Given the description of an element on the screen output the (x, y) to click on. 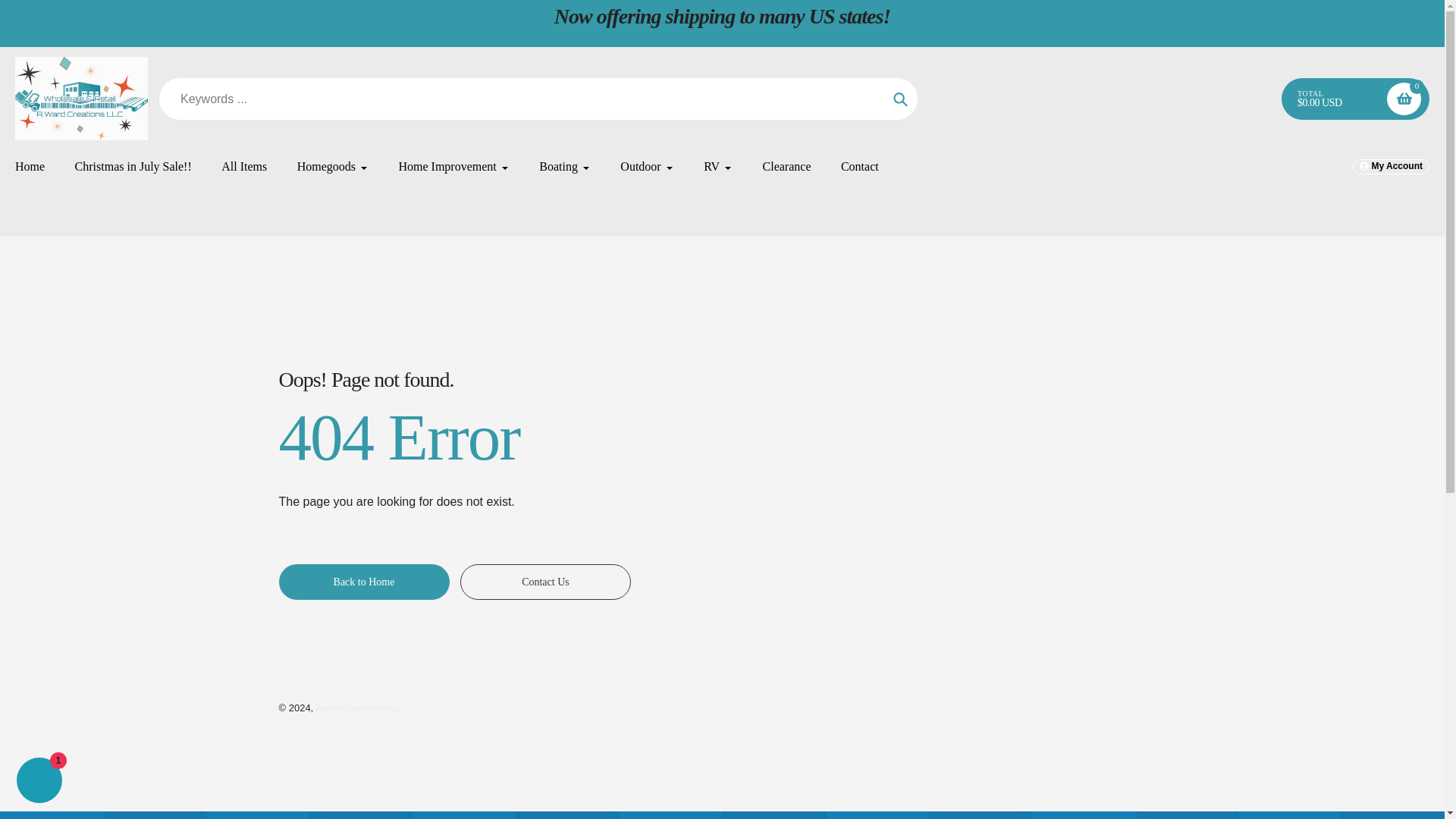
Home Improvement (452, 167)
Home (29, 167)
Homegoods (332, 167)
Christmas in July Sale!! (133, 167)
0 (1404, 98)
All Items (243, 167)
Shopify online store chat (38, 781)
